Given the description of an element on the screen output the (x, y) to click on. 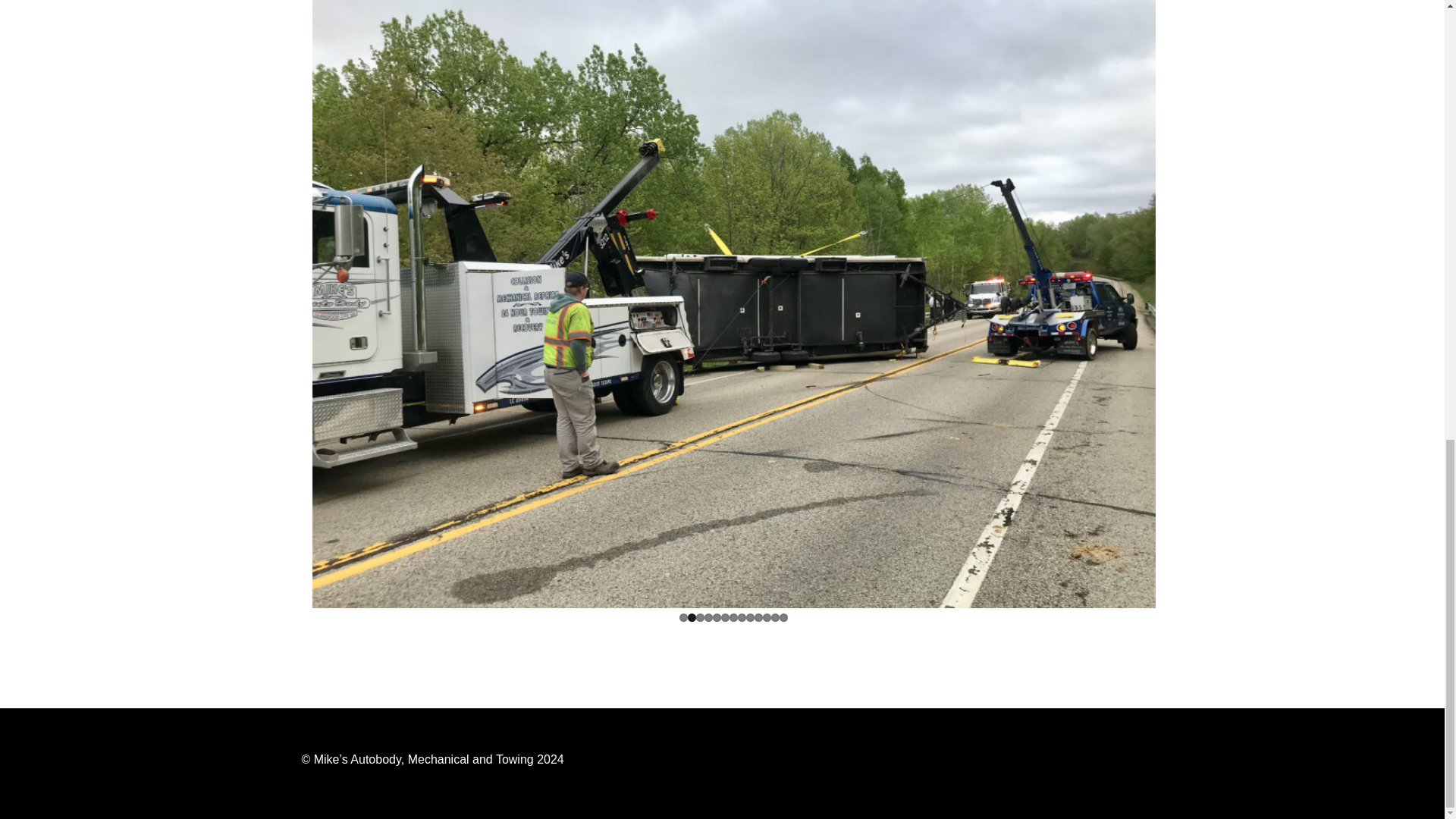
2 (691, 617)
9 (749, 617)
1 (683, 617)
4 (708, 617)
10 (758, 617)
7 (733, 617)
11 (766, 617)
8 (741, 617)
12 (774, 617)
5 (716, 617)
3 (699, 617)
6 (724, 617)
13 (782, 617)
